Given the description of an element on the screen output the (x, y) to click on. 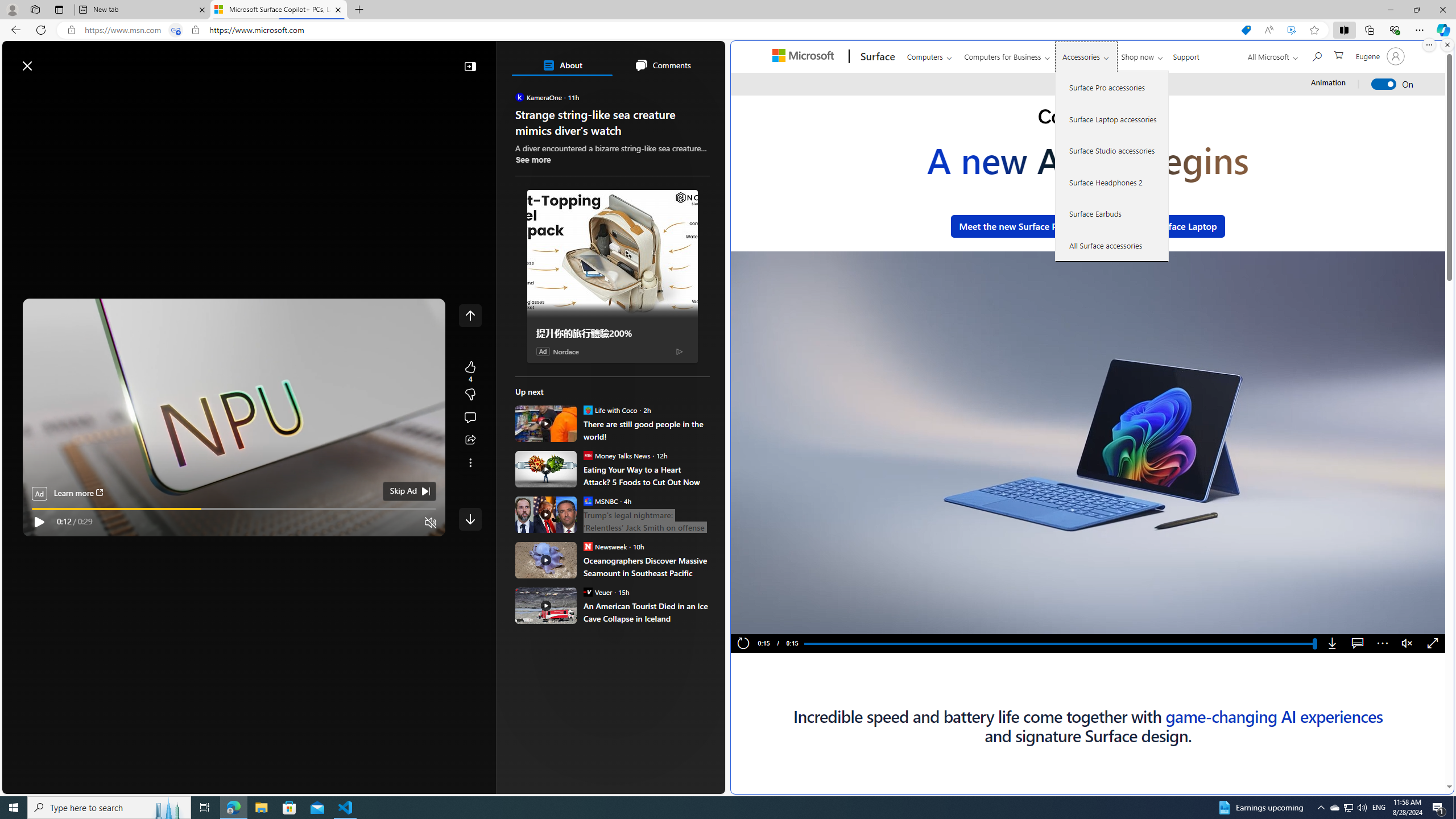
Fullscreen (1432, 643)
Share this story (469, 440)
4 Like (469, 371)
Surface Earbuds (1112, 214)
An American Tourist Died in an Ice Cave Collapse in Iceland (646, 611)
Animation On (1383, 84)
All Surface accessories (1112, 245)
Tabs in split screen (175, 29)
Veuer Veuer (597, 591)
More options. (1428, 45)
Captions (1357, 643)
